Given the description of an element on the screen output the (x, y) to click on. 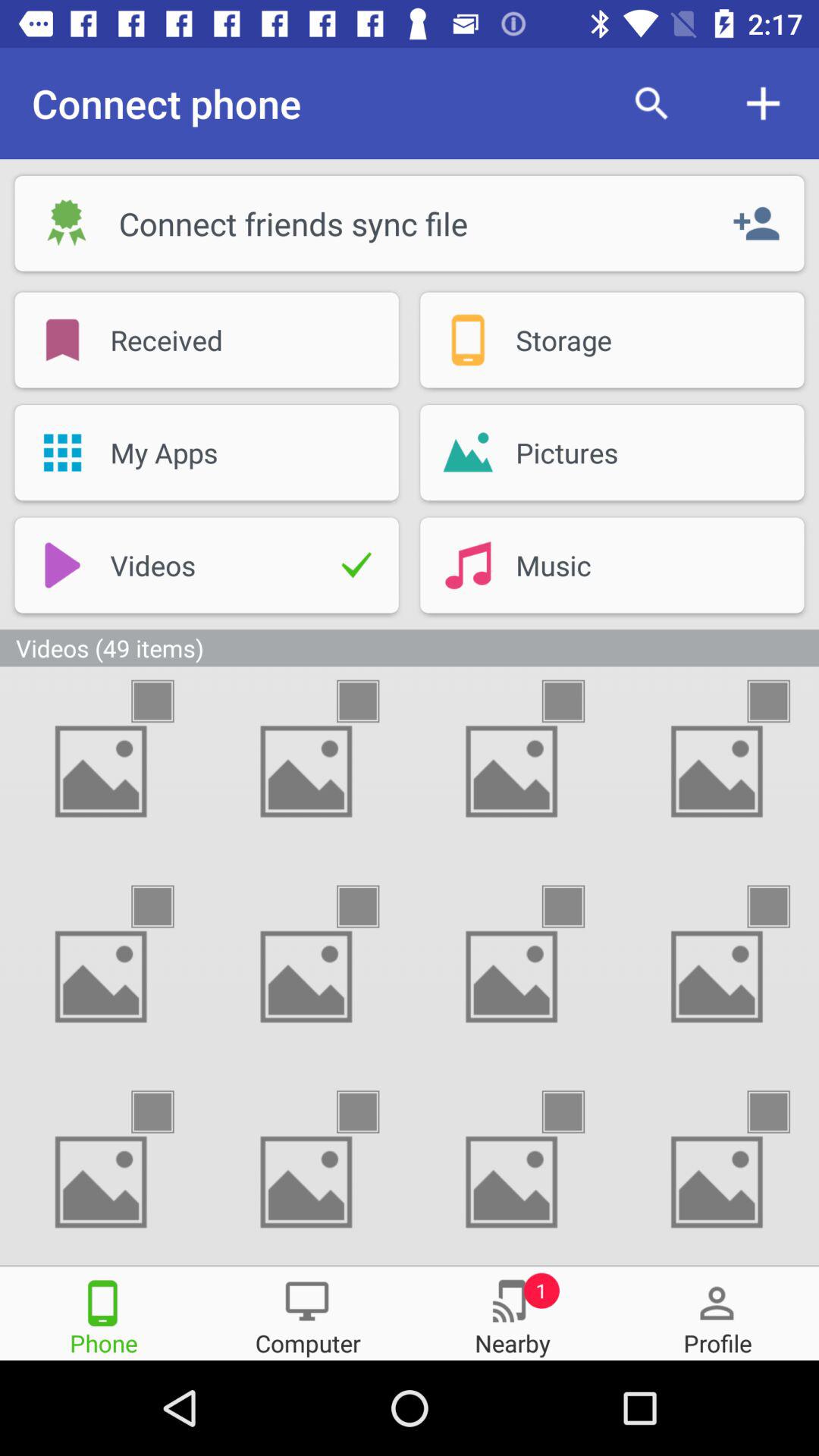
select this video (166, 906)
